Given the description of an element on the screen output the (x, y) to click on. 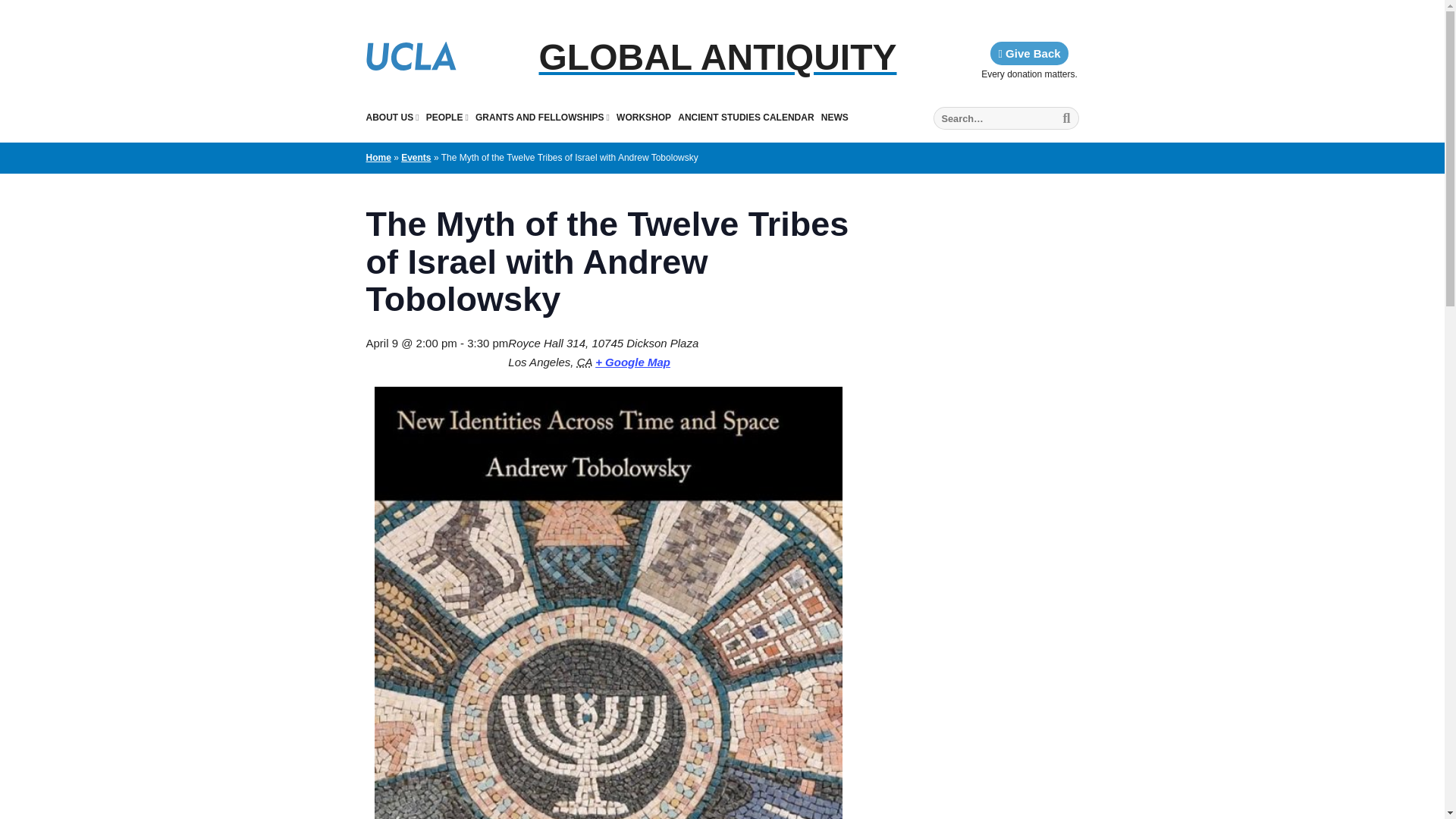
PEOPLE (447, 117)
GLOBAL ANTIQUITY (718, 57)
California (584, 360)
WORKSHOP (643, 117)
GRANTS AND FELLOWSHIPS (543, 117)
Events (415, 157)
Click to view a Google Map (632, 360)
ABOUT US (392, 117)
Search for: (1005, 118)
NEWS (834, 117)
Home (377, 157)
ANCIENT STUDIES CALENDAR (745, 117)
Give Back (1028, 53)
